Given the description of an element on the screen output the (x, y) to click on. 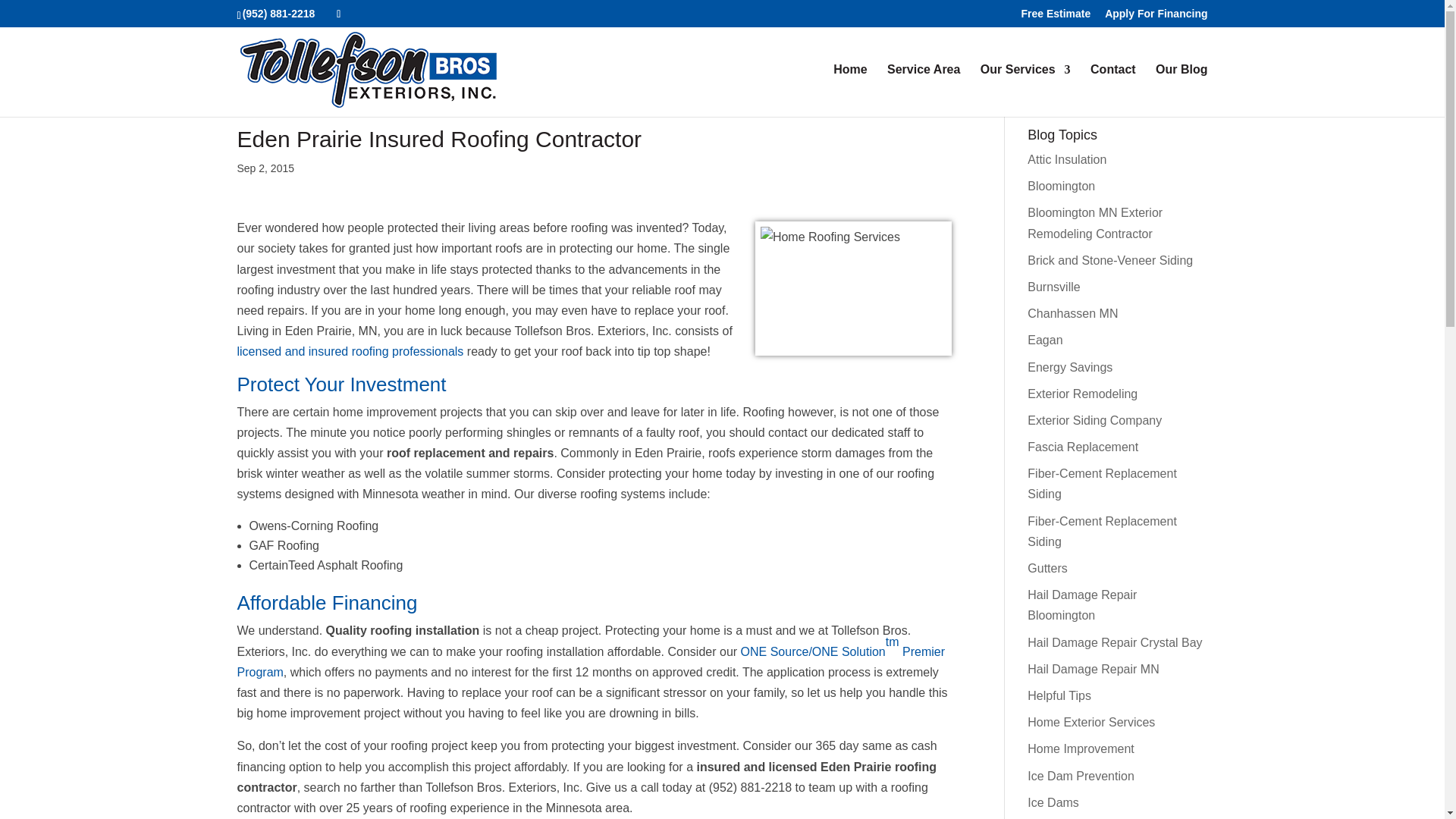
Gutters (1047, 567)
Hail Damage Repair MN (1092, 668)
Free Estimate (1055, 16)
Exterior Siding Company (1094, 420)
Fascia Replacement (1082, 446)
Fiber-Cement Replacement Siding (1101, 531)
Eagan (1044, 339)
Our Blog (1181, 90)
Hail Damage Repair Bloomington (1082, 604)
Ice Dams (1052, 802)
